Given the description of an element on the screen output the (x, y) to click on. 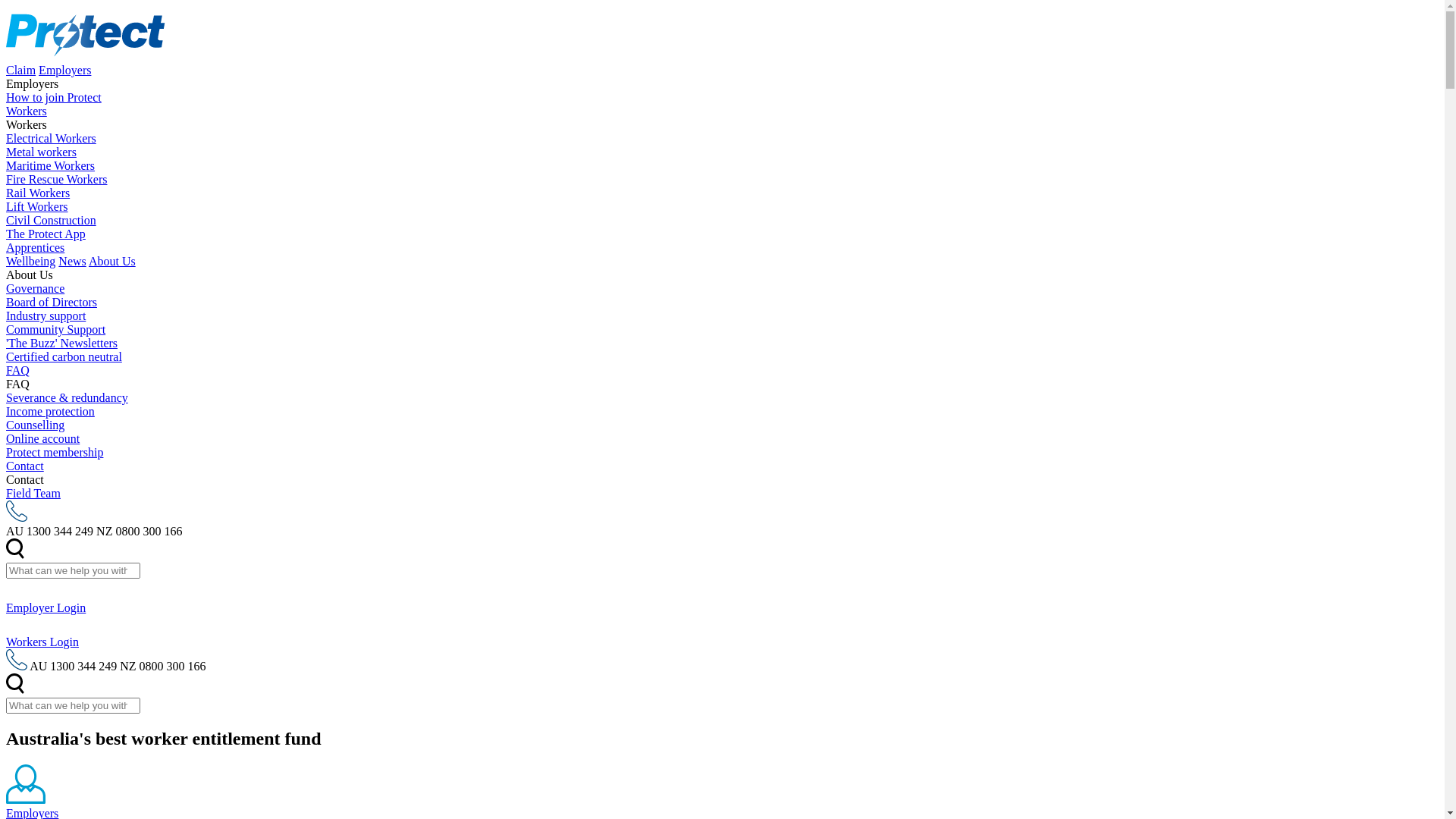
Certified carbon neutral Element type: text (64, 356)
Rail Workers Element type: text (37, 192)
Contact Element type: text (24, 465)
News Element type: text (71, 260)
Lift Workers Element type: text (37, 206)
Online account Element type: text (42, 438)
'The Buzz' Newsletters Element type: text (61, 342)
Protect membership Element type: text (54, 451)
Maritime Workers Element type: text (50, 165)
Employer Login Element type: text (722, 596)
Industry support Element type: text (45, 315)
Metal workers Element type: text (41, 151)
Community Support Element type: text (55, 329)
Governance Element type: text (35, 288)
About Us Element type: text (111, 260)
Fire Rescue Workers Element type: text (56, 178)
Severance & redundancy Element type: text (67, 397)
Civil Construction Element type: text (51, 219)
Apprentices Element type: text (35, 247)
Workers Login Element type: text (722, 638)
Board of Directors Element type: text (51, 301)
How to join Protect Element type: text (53, 97)
Claim Element type: text (20, 69)
The Protect App Element type: text (45, 233)
Counselling Element type: text (35, 424)
Income protection Element type: text (50, 410)
Electrical Workers Element type: text (51, 137)
Workers Element type: text (26, 110)
FAQ Element type: text (17, 370)
Field Team Element type: text (33, 492)
Employers Element type: text (64, 69)
Wellbeing Element type: text (30, 260)
